Given the description of an element on the screen output the (x, y) to click on. 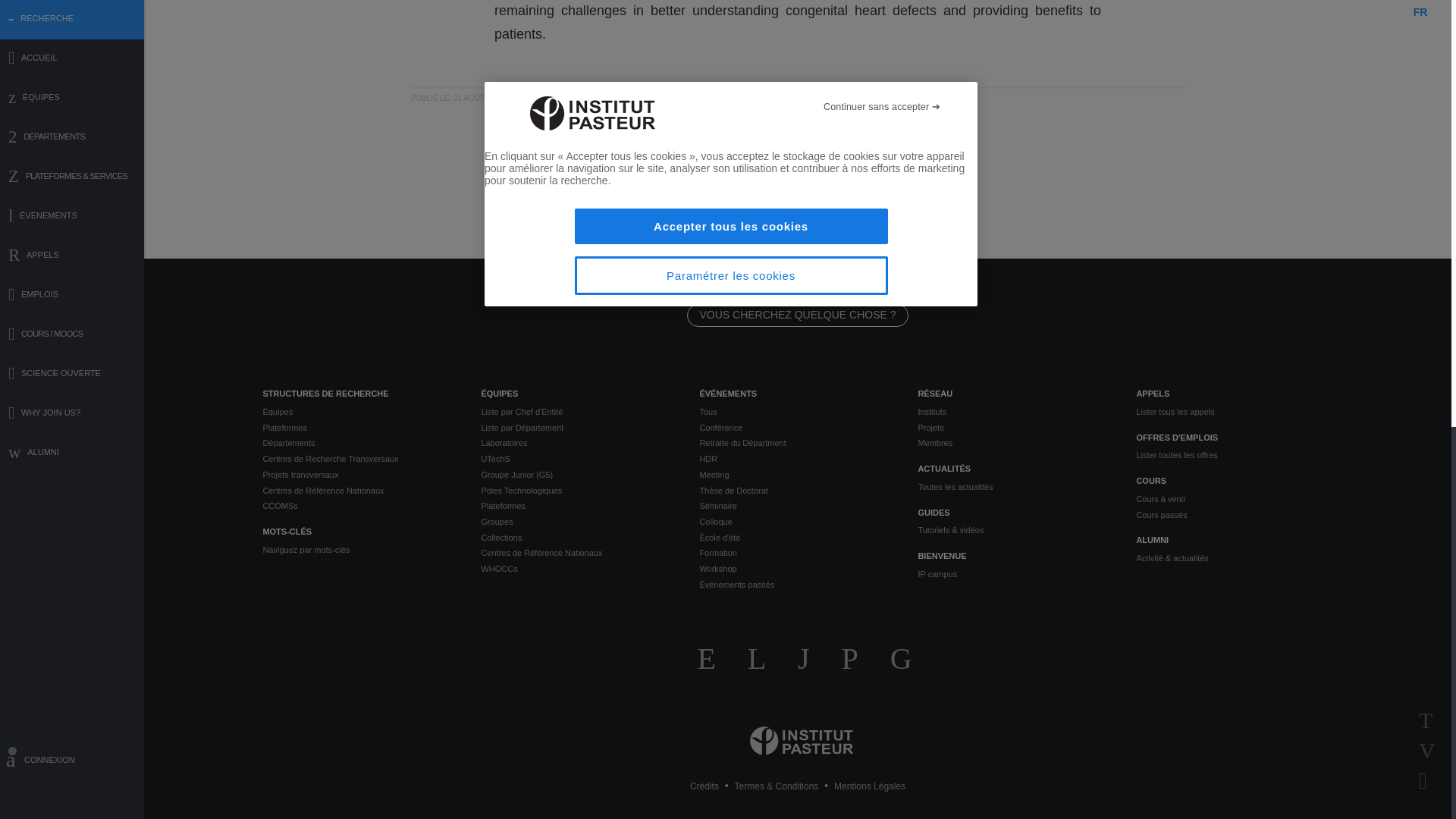
Plateformes (360, 427)
